Given the description of an element on the screen output the (x, y) to click on. 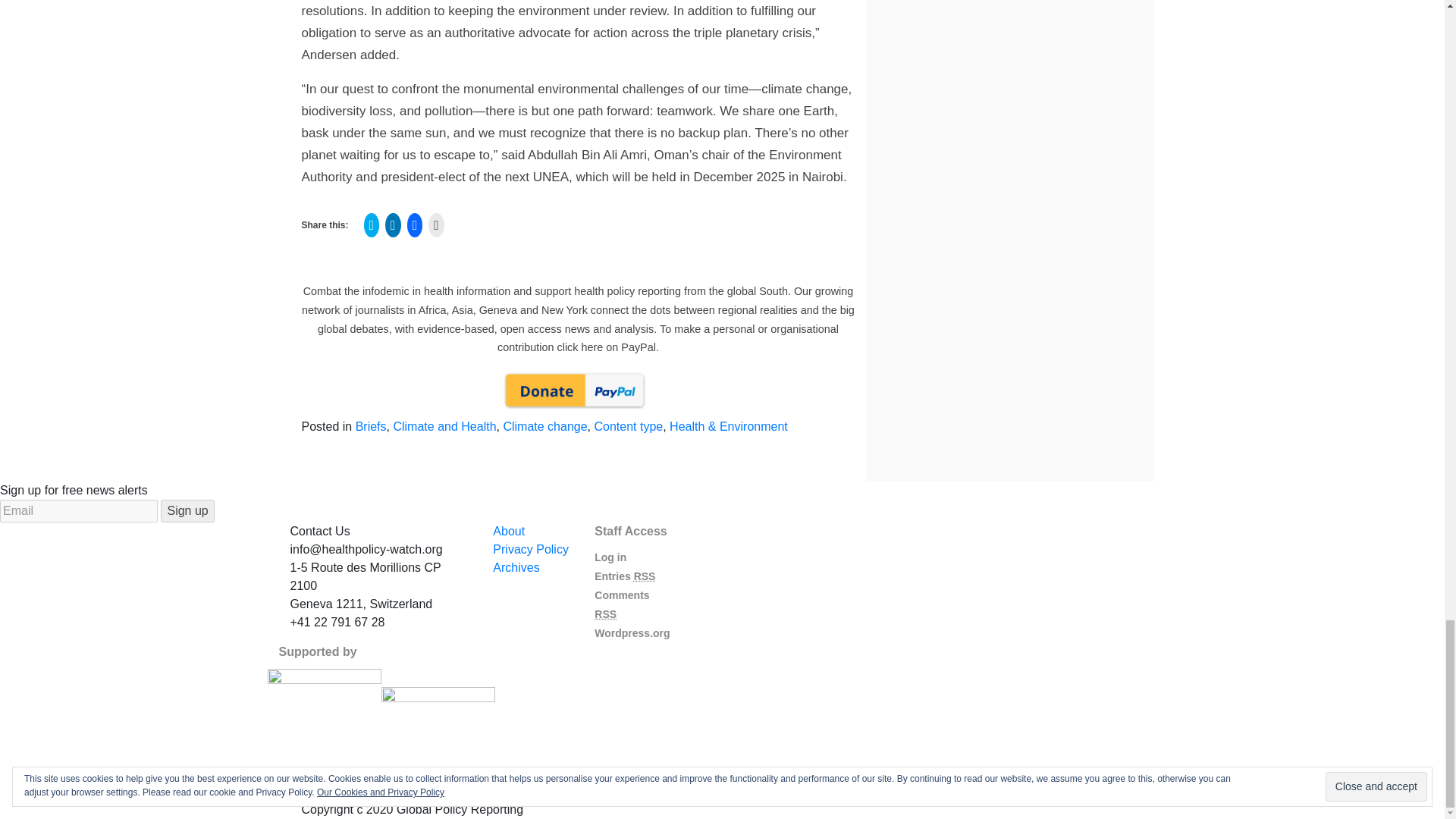
Climate and Health (444, 426)
Briefs (371, 426)
Climate change (544, 426)
Sign up (187, 510)
Content type (628, 426)
